Given the description of an element on the screen output the (x, y) to click on. 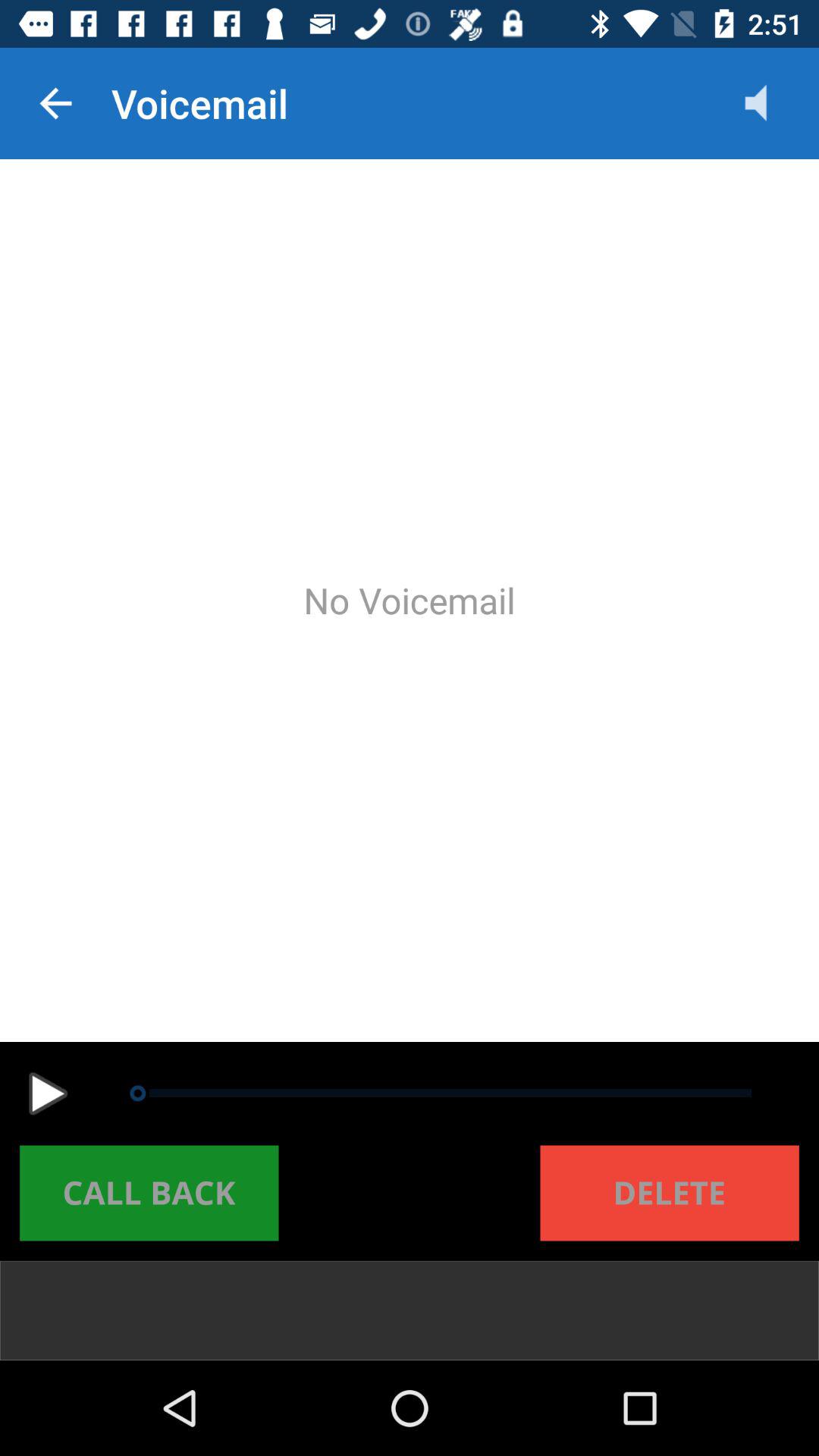
turn on the item at the top left corner (55, 103)
